Given the description of an element on the screen output the (x, y) to click on. 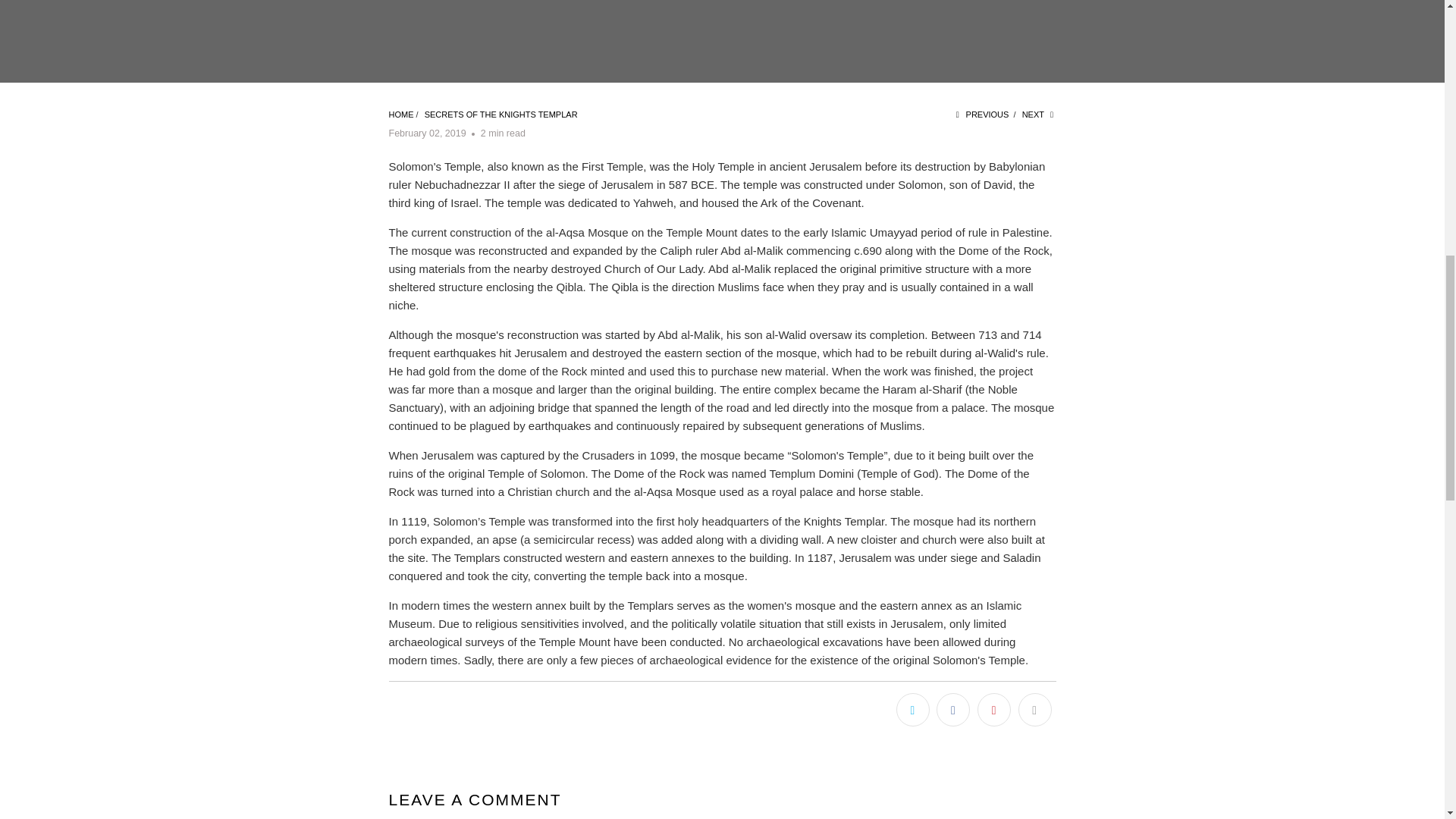
Share this on Facebook (952, 709)
Share this on Twitter (913, 709)
Ancient Treasures (400, 113)
Secrets of the Knights Templar (501, 113)
